Given the description of an element on the screen output the (x, y) to click on. 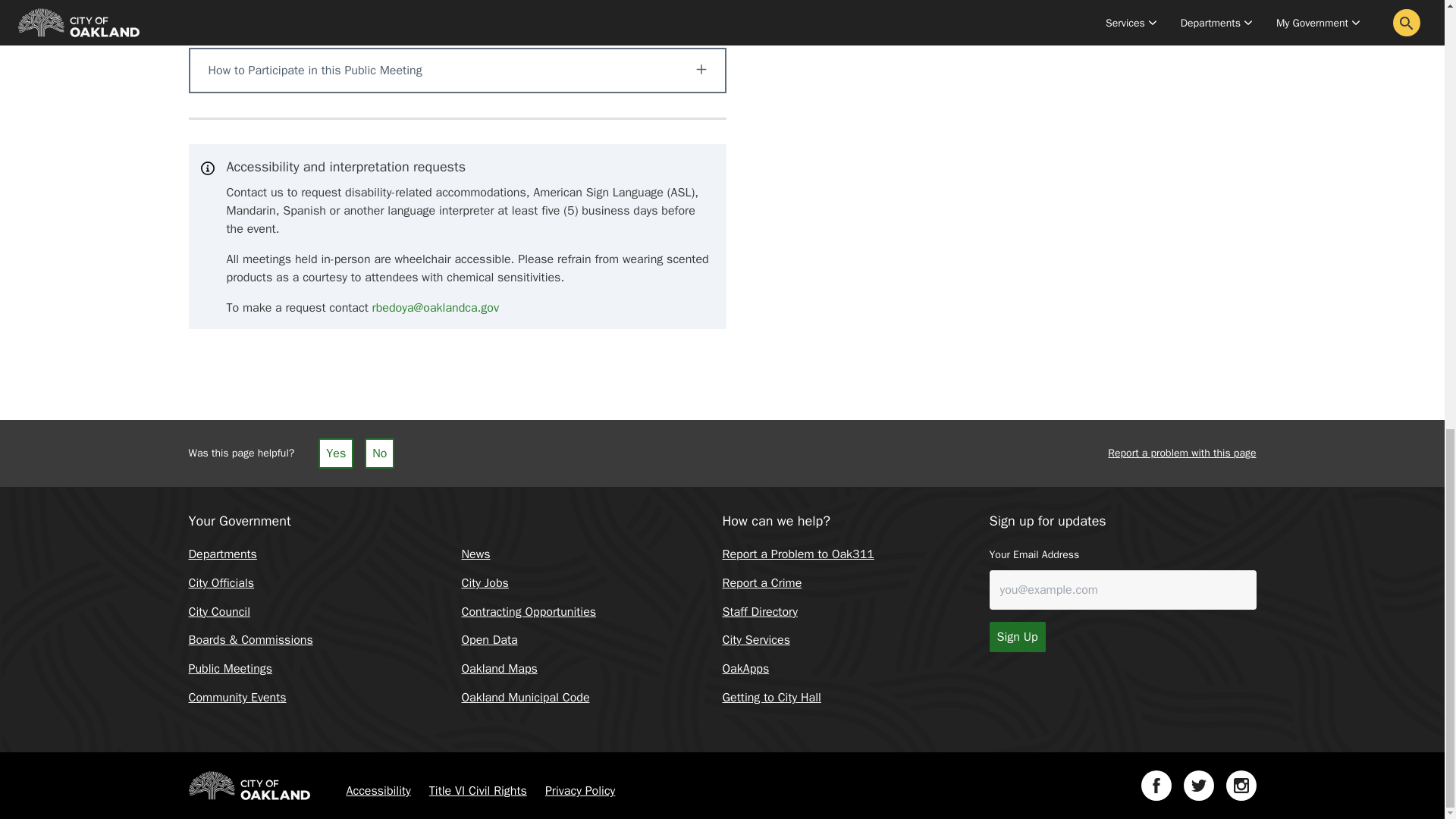
Sign Up (1016, 636)
